Given the description of an element on the screen output the (x, y) to click on. 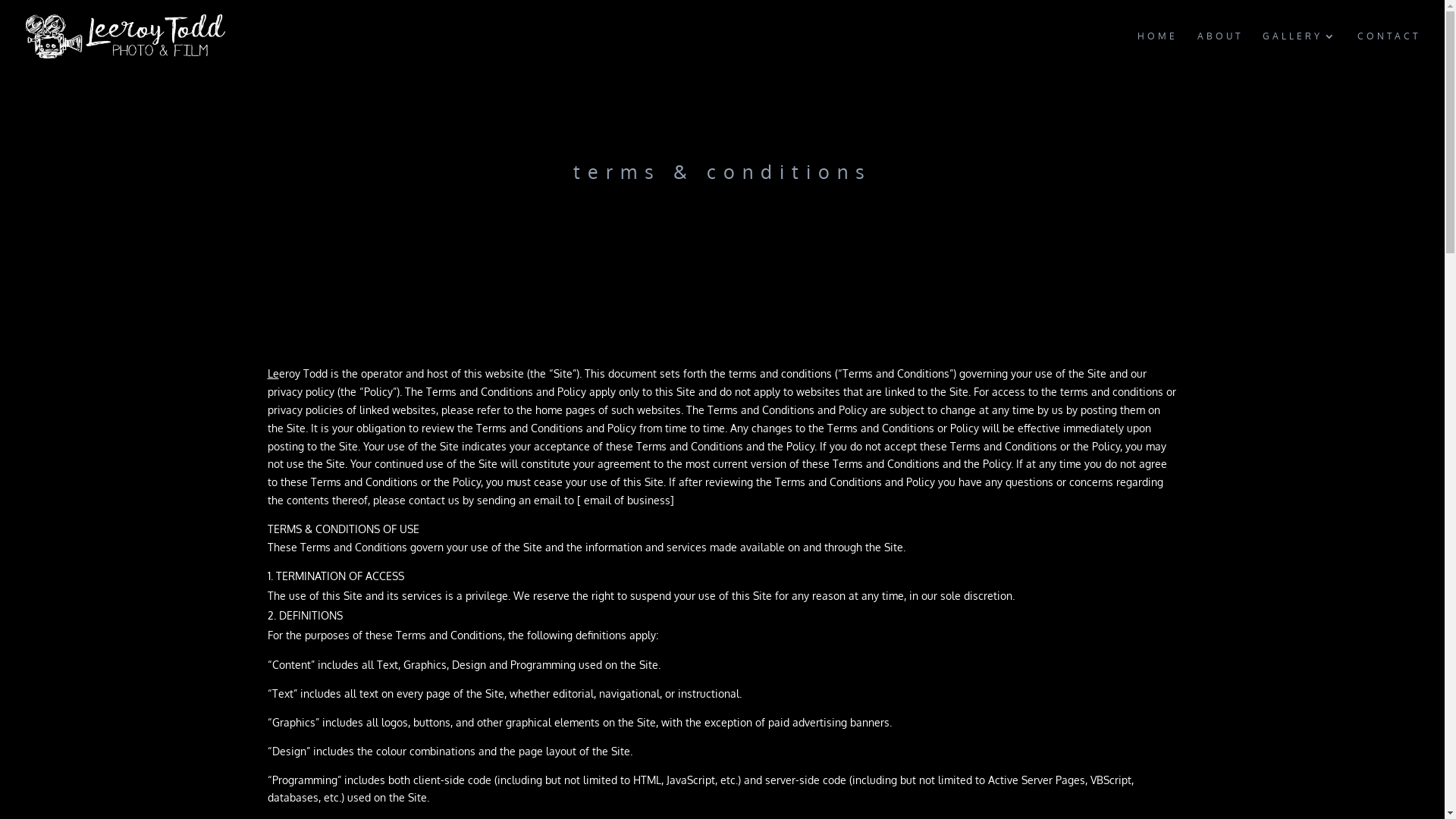
CONTACT Element type: text (1388, 51)
ABOUT Element type: text (1219, 51)
HOME Element type: text (1157, 51)
GALLERY Element type: text (1299, 51)
